Given the description of an element on the screen output the (x, y) to click on. 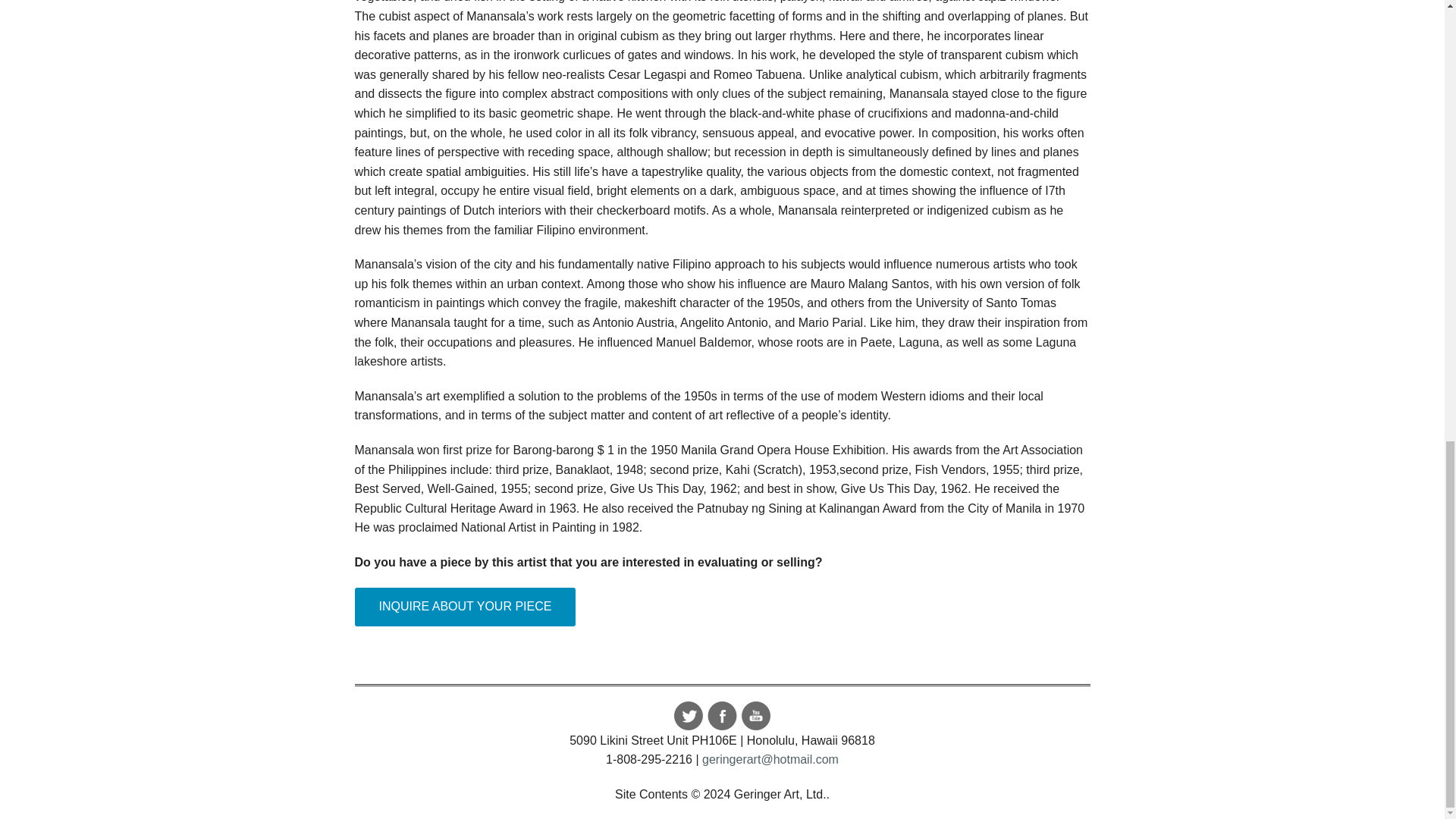
INQUIRE ABOUT YOUR PIECE (465, 607)
